Given the description of an element on the screen output the (x, y) to click on. 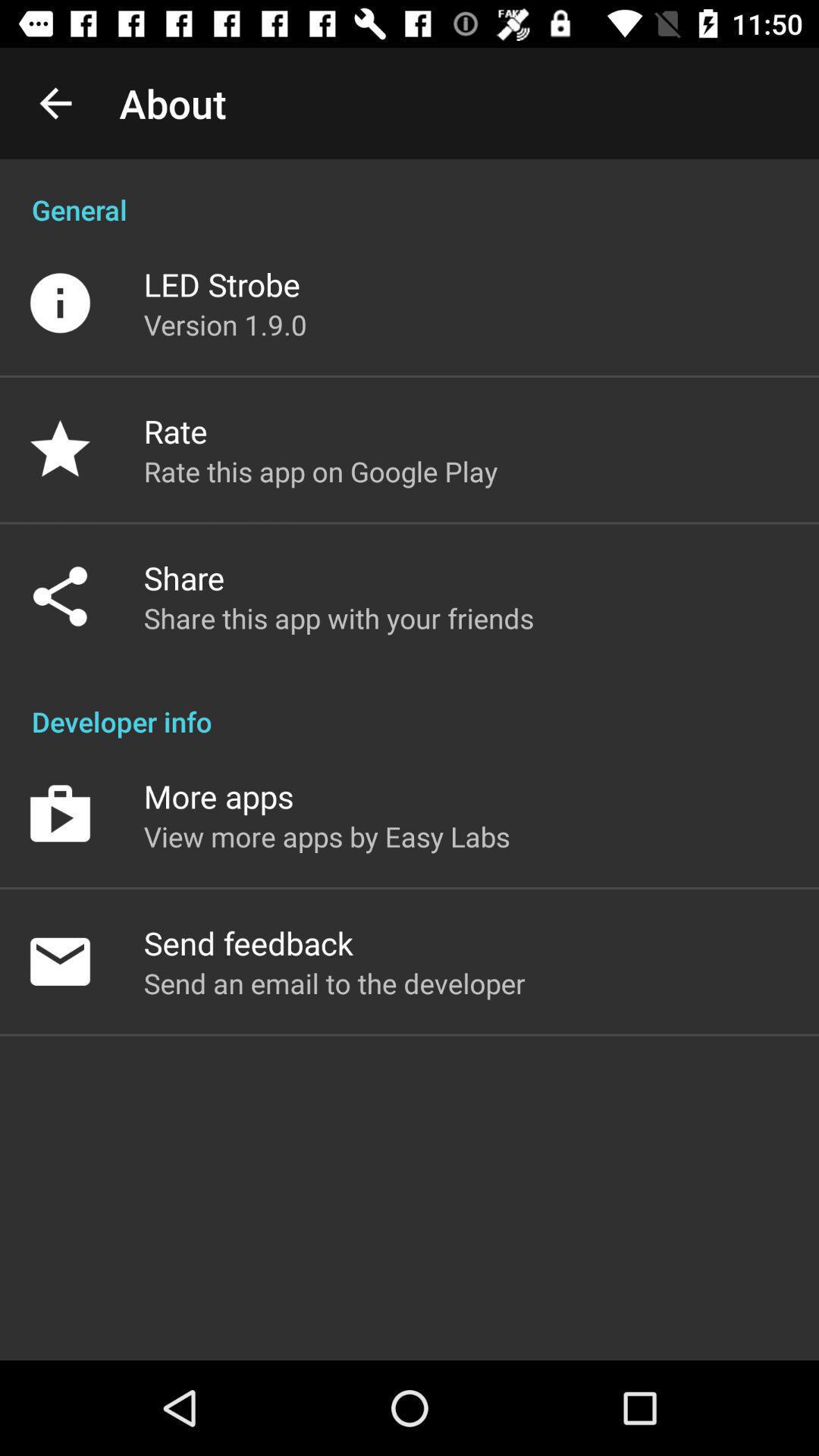
tap item above the rate icon (225, 324)
